Given the description of an element on the screen output the (x, y) to click on. 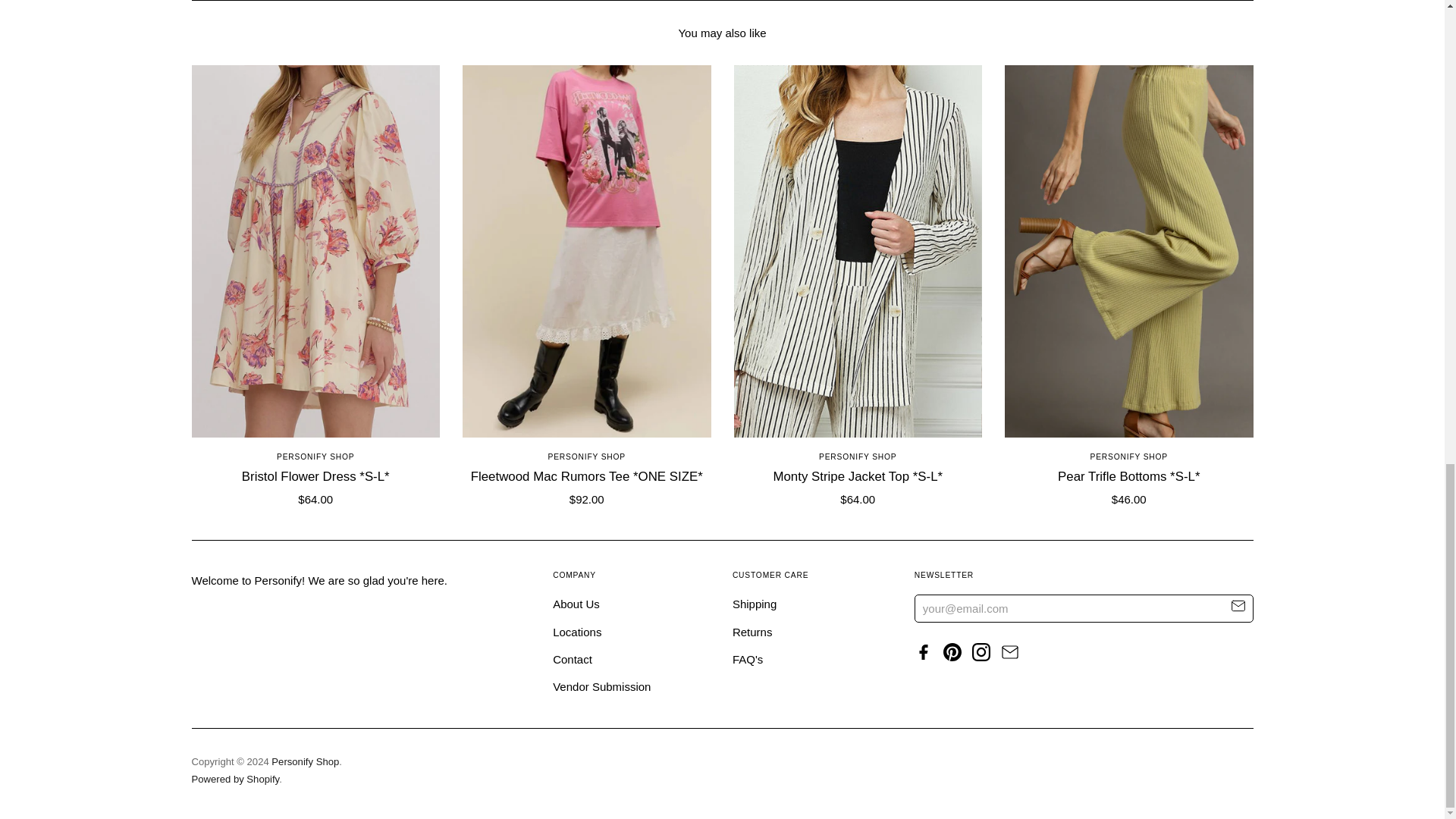
Personify Shop (857, 456)
Personify Shop (587, 456)
Personify Shop (1128, 456)
Personify Shop (314, 456)
